Given the description of an element on the screen output the (x, y) to click on. 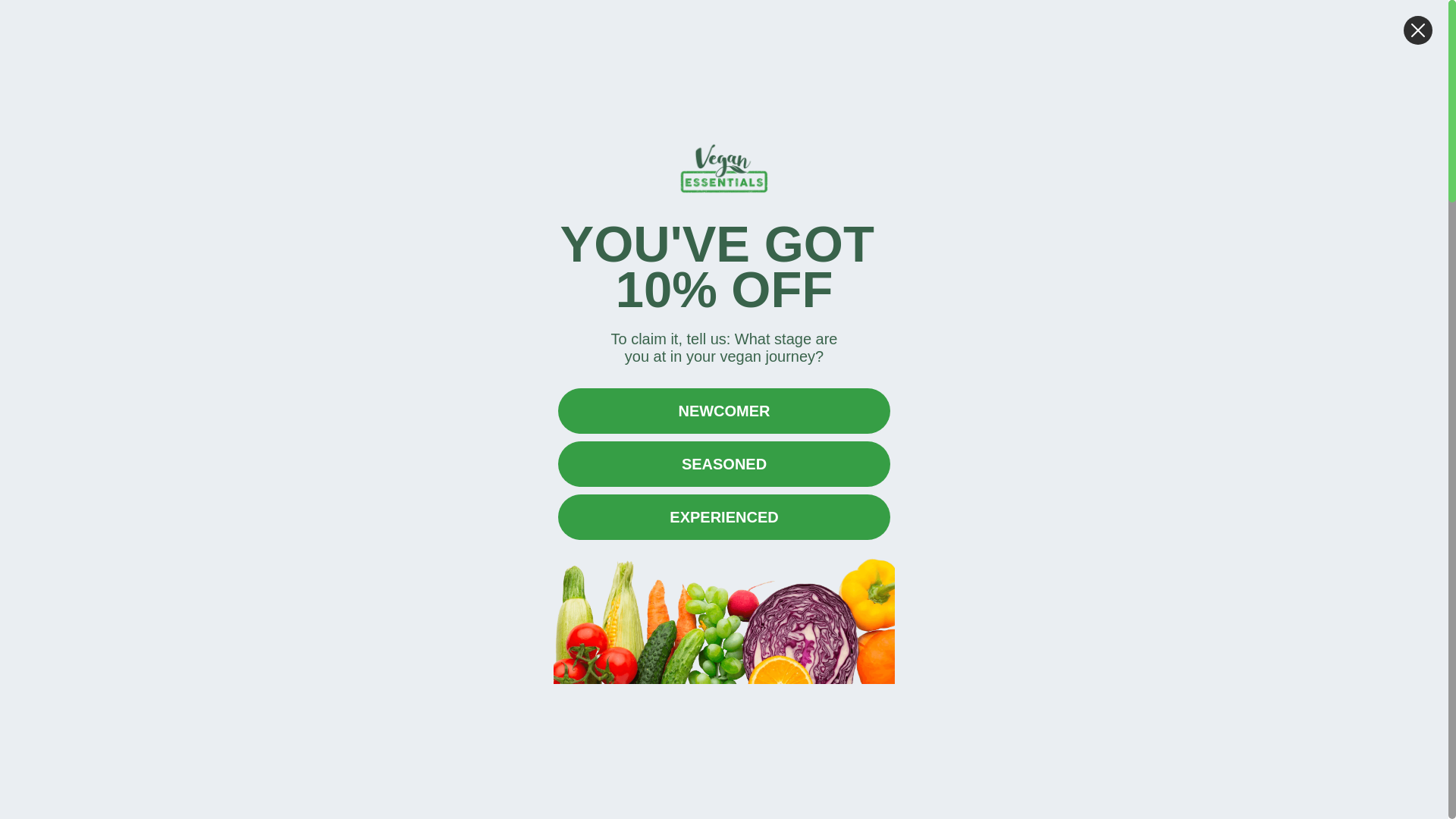
New Releases (371, 96)
Contact Us (1221, 96)
Home (203, 208)
Top Deals (562, 96)
Rare Vegan Finds (237, 507)
Shop By Category (247, 96)
Low Sodium Picks (238, 411)
High Protein (224, 443)
Rare Finds (472, 96)
Home (203, 208)
Sign In (1178, 35)
Gluten Free (222, 475)
Close dialog 1 (1417, 30)
About Us (1131, 96)
